Given the description of an element on the screen output the (x, y) to click on. 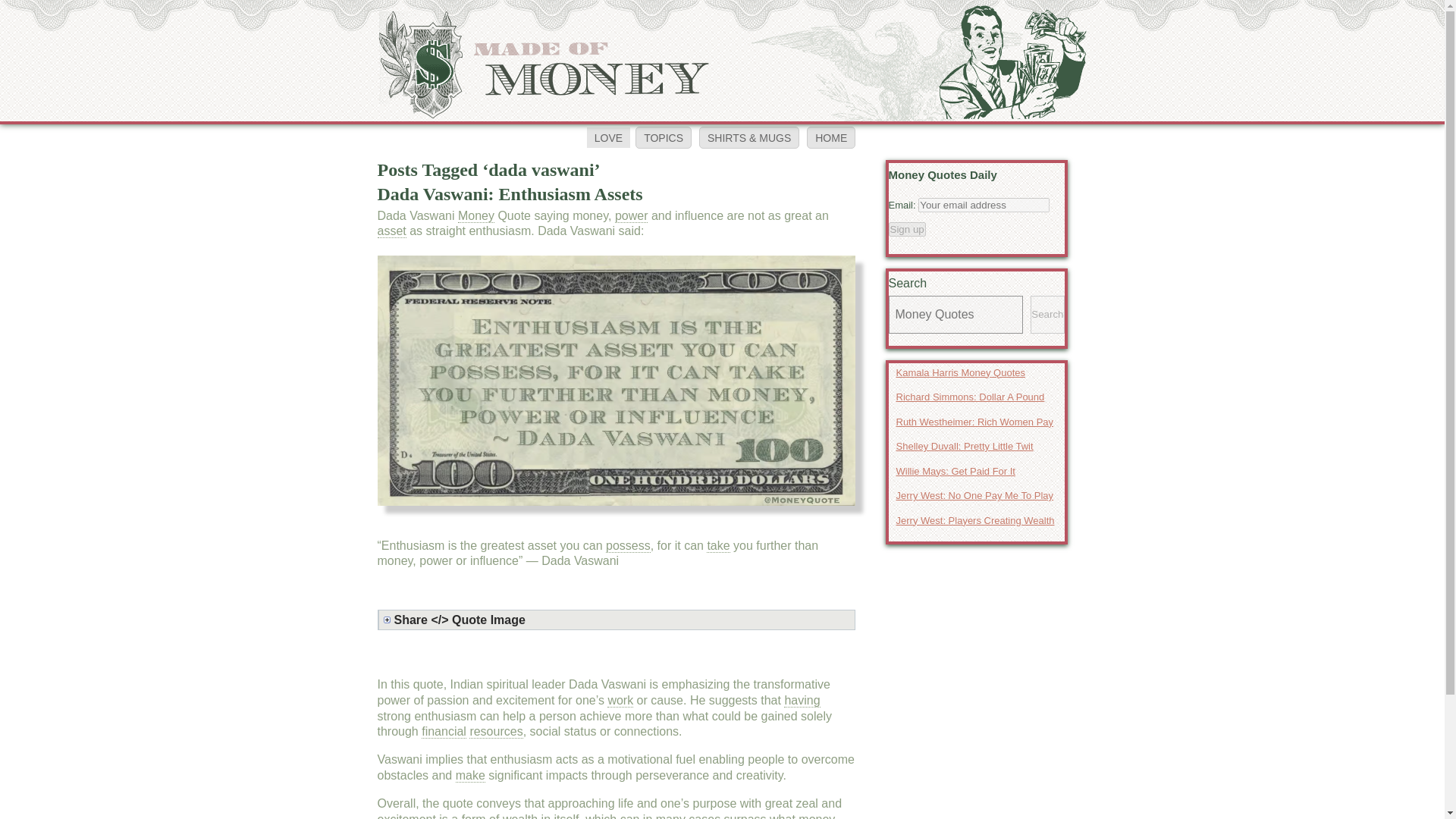
money (815, 816)
TOPICS (662, 137)
work (620, 700)
possess (627, 545)
Jerry West: No One Pay Me To Play (976, 496)
Kamala Harris Money Quotes (976, 372)
Dada Vaswani: Enthusiasm Assets (510, 193)
Richard Simmons: Dollar A Pound (976, 397)
financial (443, 731)
Shelley Duvall: Pretty Little Twit (976, 446)
LOVE (608, 137)
Money (476, 215)
wealth (519, 816)
having (801, 700)
make (469, 775)
